Given the description of an element on the screen output the (x, y) to click on. 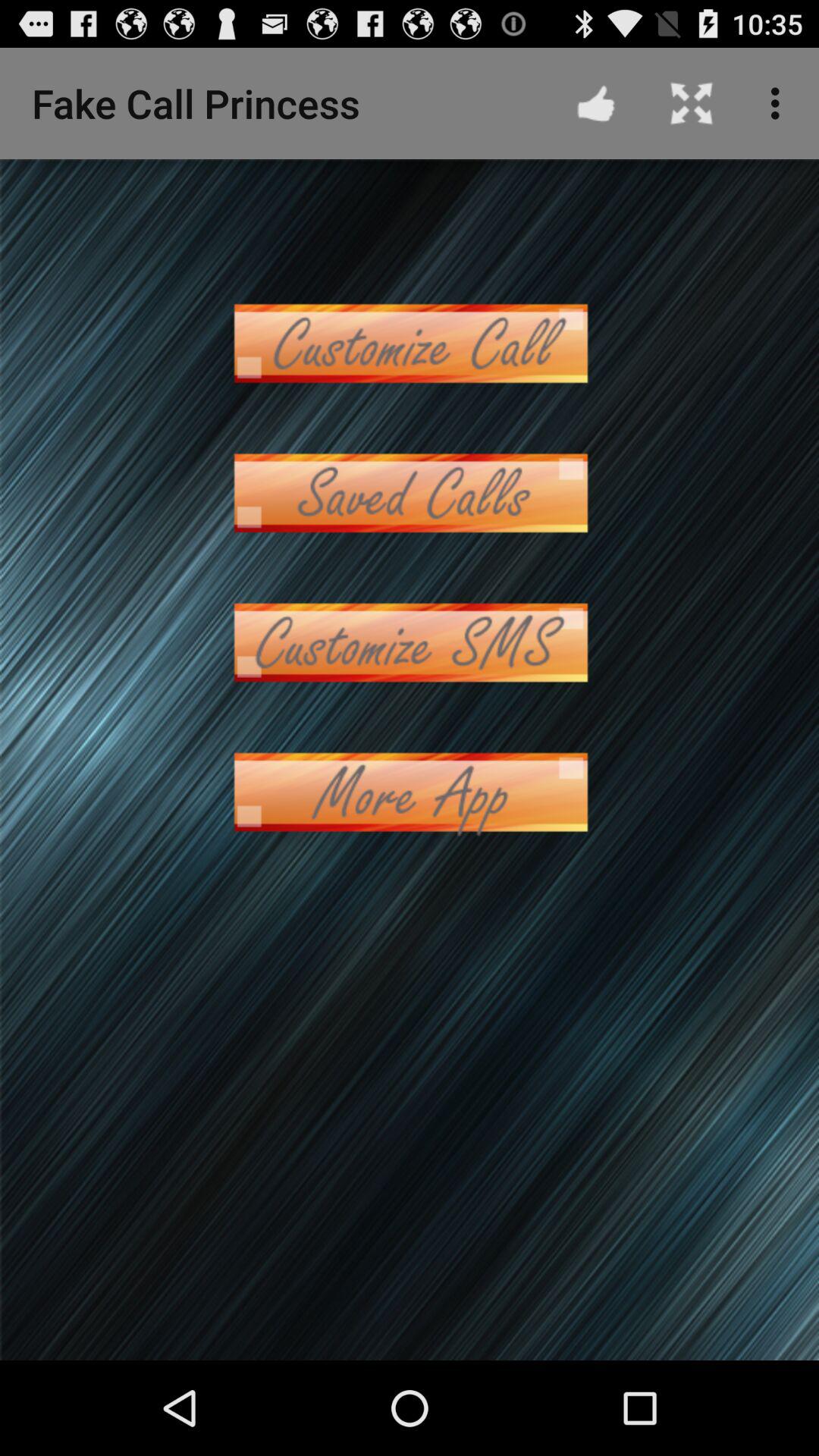
select more app (409, 792)
